Given the description of an element on the screen output the (x, y) to click on. 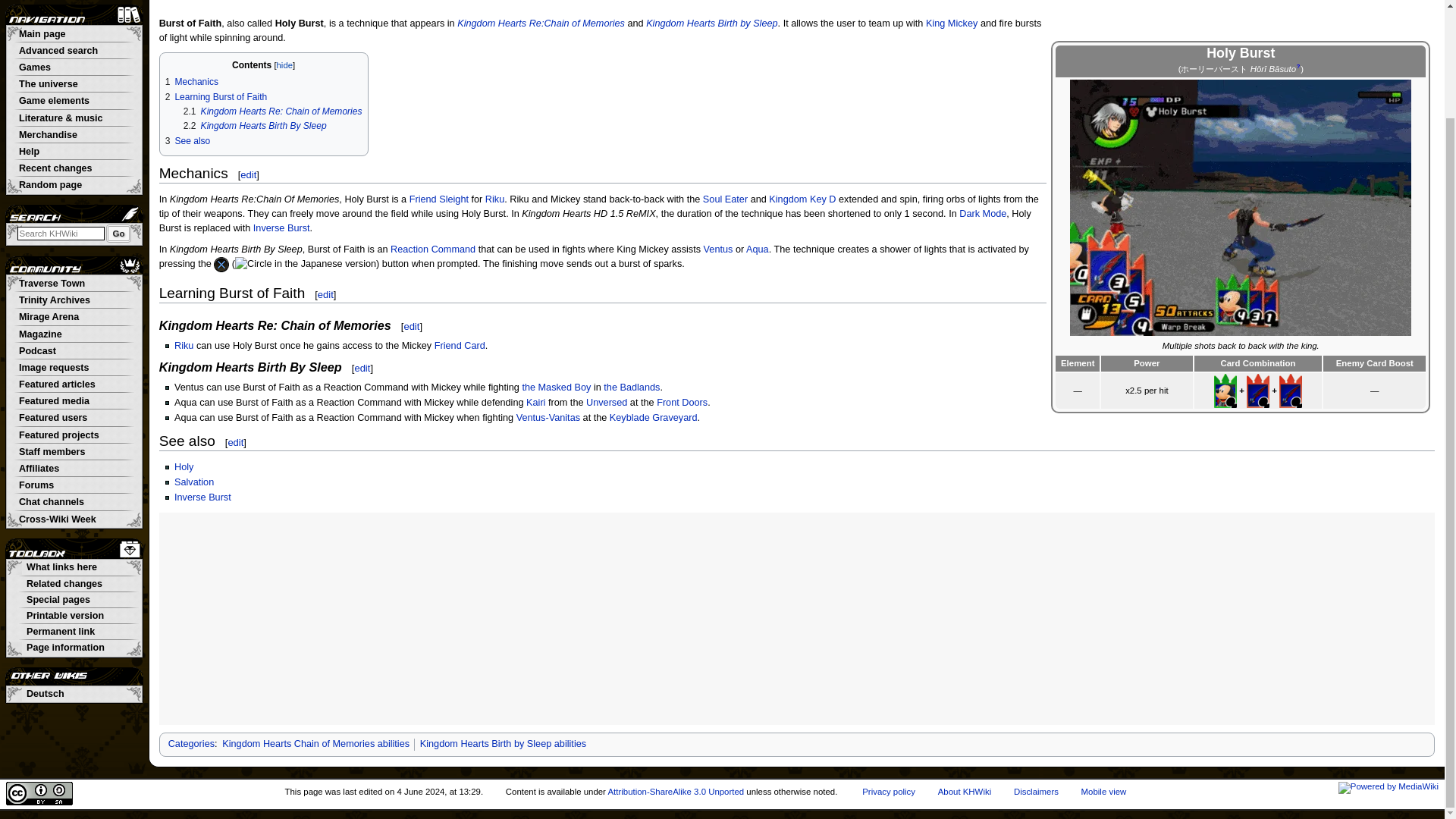
1 Mechanics (191, 81)
Riku (493, 199)
Kingdom Hearts Birth by Sleep (711, 23)
Kingdom Key D (801, 199)
Soul Eater (725, 199)
Kingdom Hearts Birth by Sleep (711, 23)
Friend Card (458, 345)
Kingdom Key D (801, 199)
edit (248, 174)
KHRECOM (1240, 40)
